Given the description of an element on the screen output the (x, y) to click on. 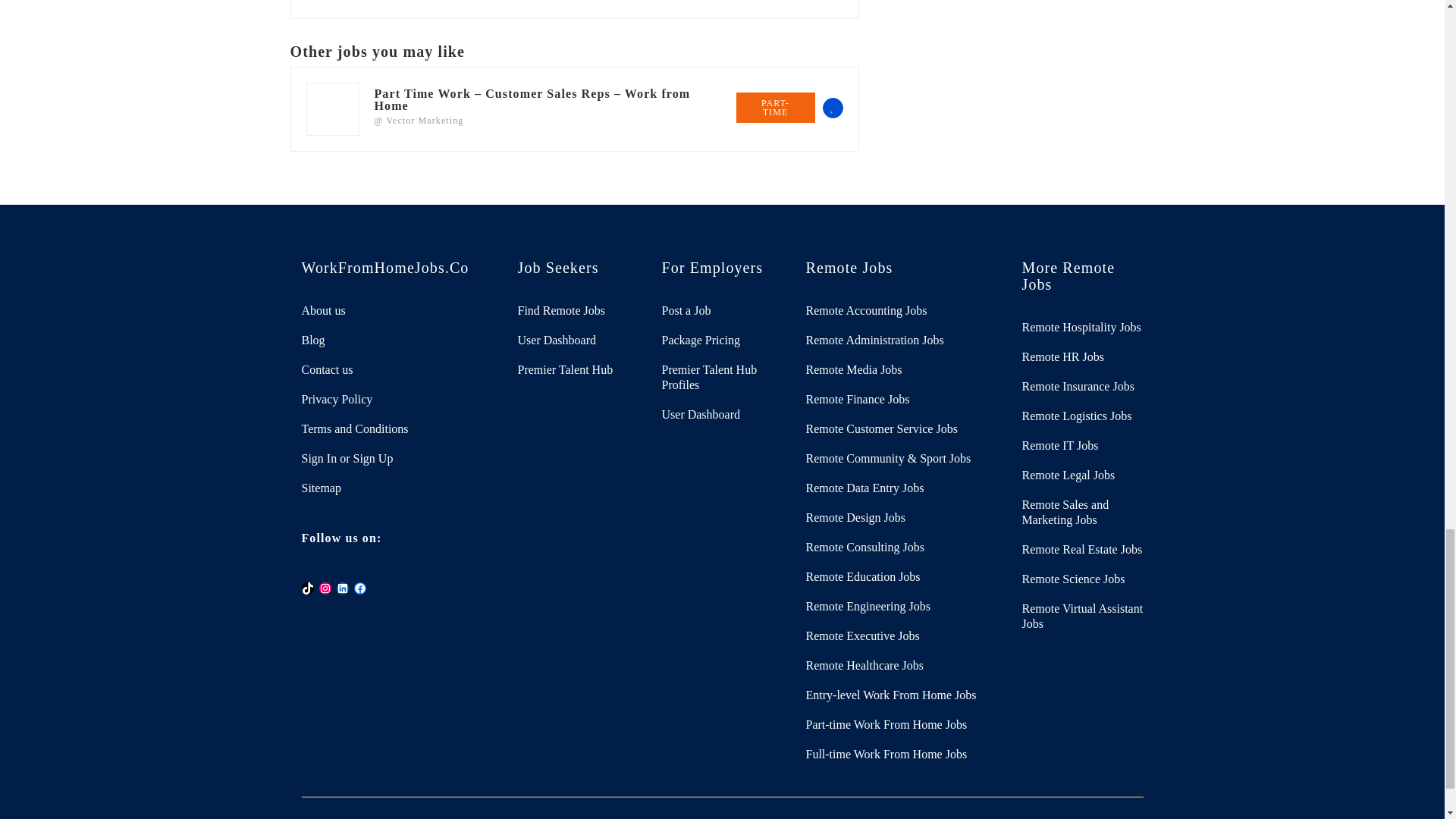
Sitemap (398, 488)
Find Remote Jobs (577, 310)
Sign In or Sign Up (398, 458)
